Given the description of an element on the screen output the (x, y) to click on. 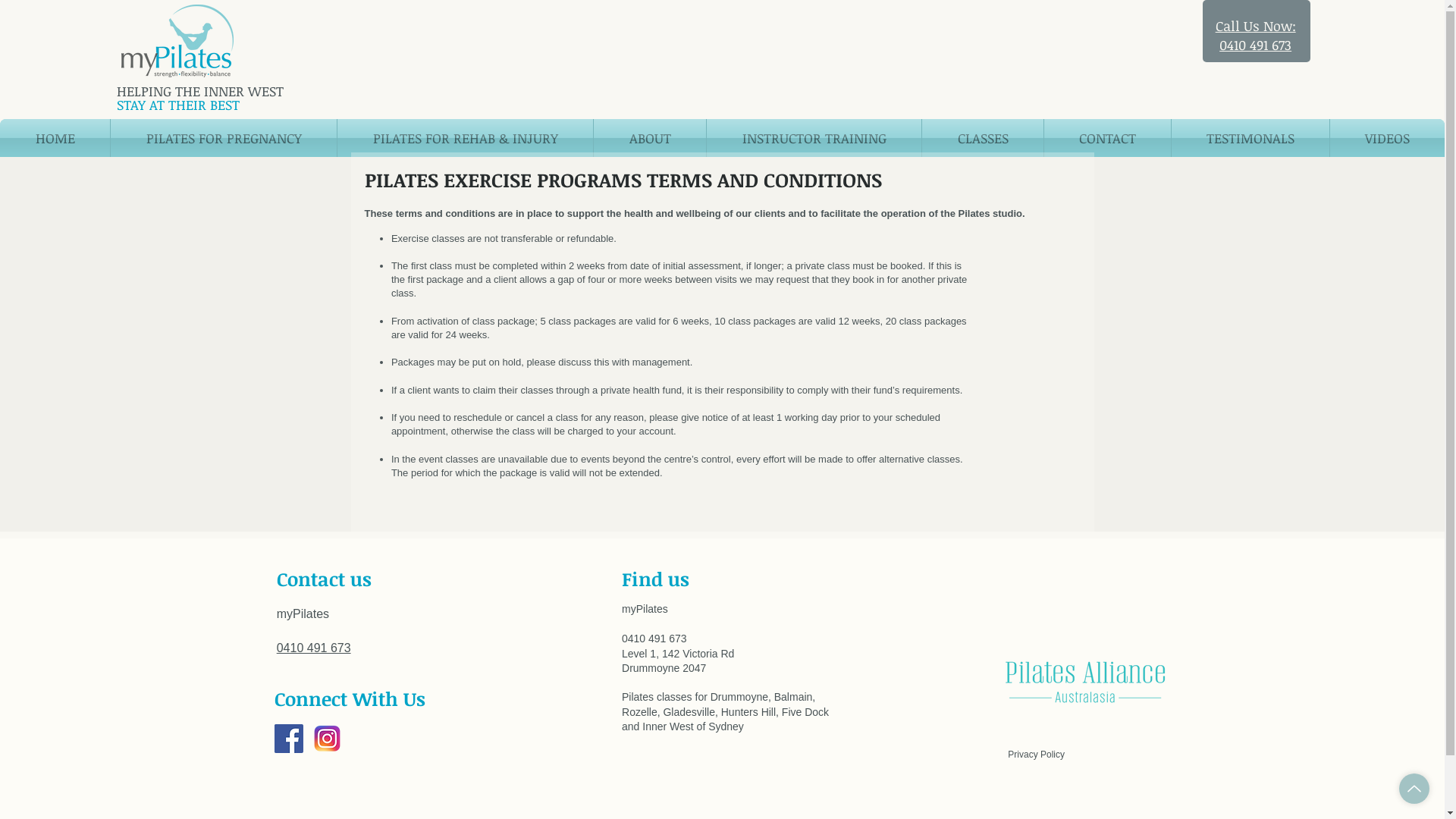
INSTRUCTOR TRAINING Element type: text (813, 137)
ABOUT Element type: text (649, 137)
Call Us Now:
0410 491 673 Element type: text (1255, 34)
HOME Element type: text (54, 137)
CLASSES Element type: text (982, 137)
PILATES FOR REHAB & INJURY Element type: text (465, 137)
0410 491 673 Element type: text (313, 647)
VIDEOS Element type: text (1387, 137)
TESTIMONALS Element type: text (1250, 137)
CONTACT Element type: text (1107, 137)
PILATES FOR PREGNANCY Element type: text (223, 137)
